Given the description of an element on the screen output the (x, y) to click on. 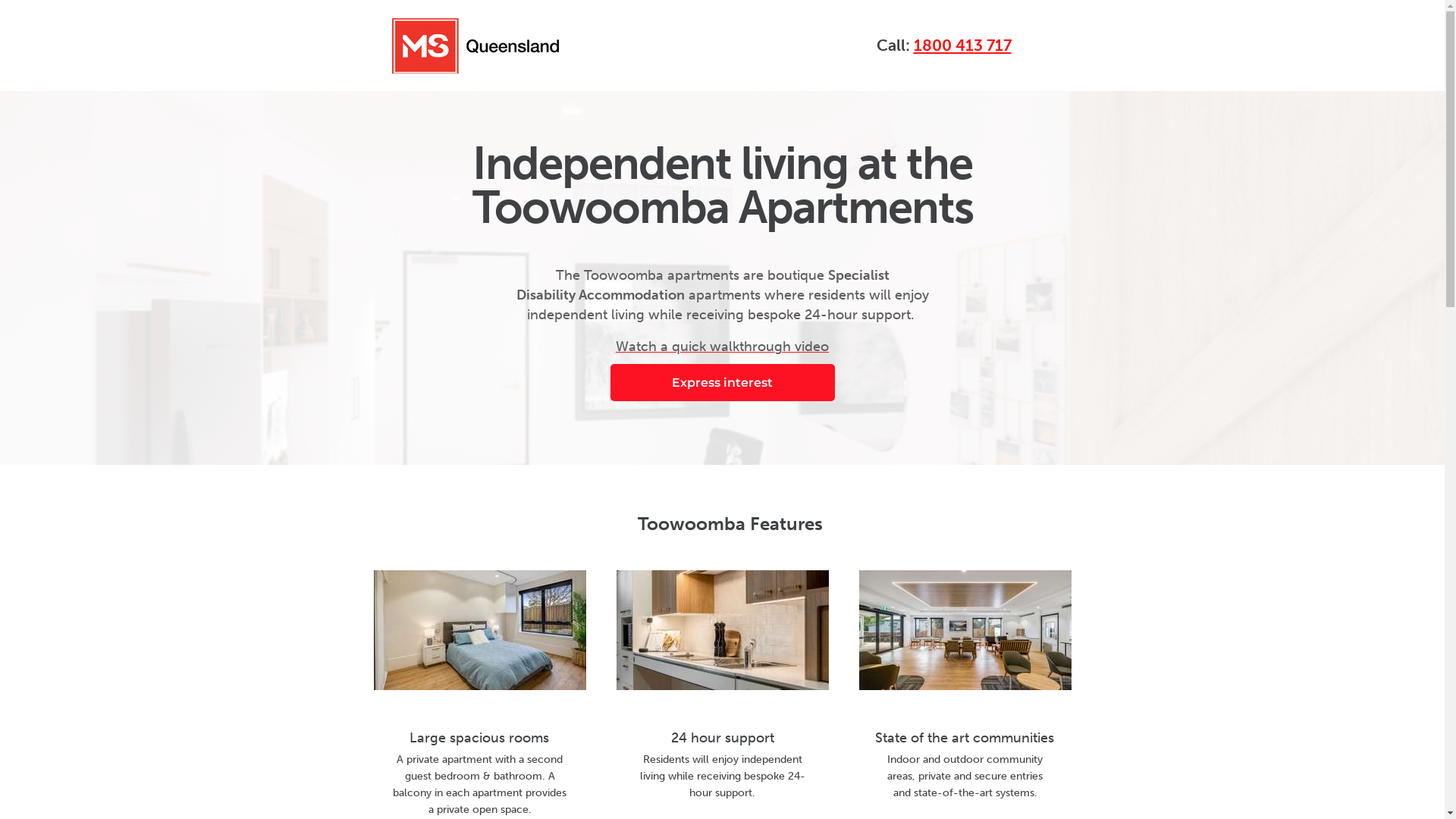
Watch a quick walkthrough video Element type: text (721, 347)
Express interest Element type: text (721, 382)
1800 413 717 Element type: text (961, 44)
